Given the description of an element on the screen output the (x, y) to click on. 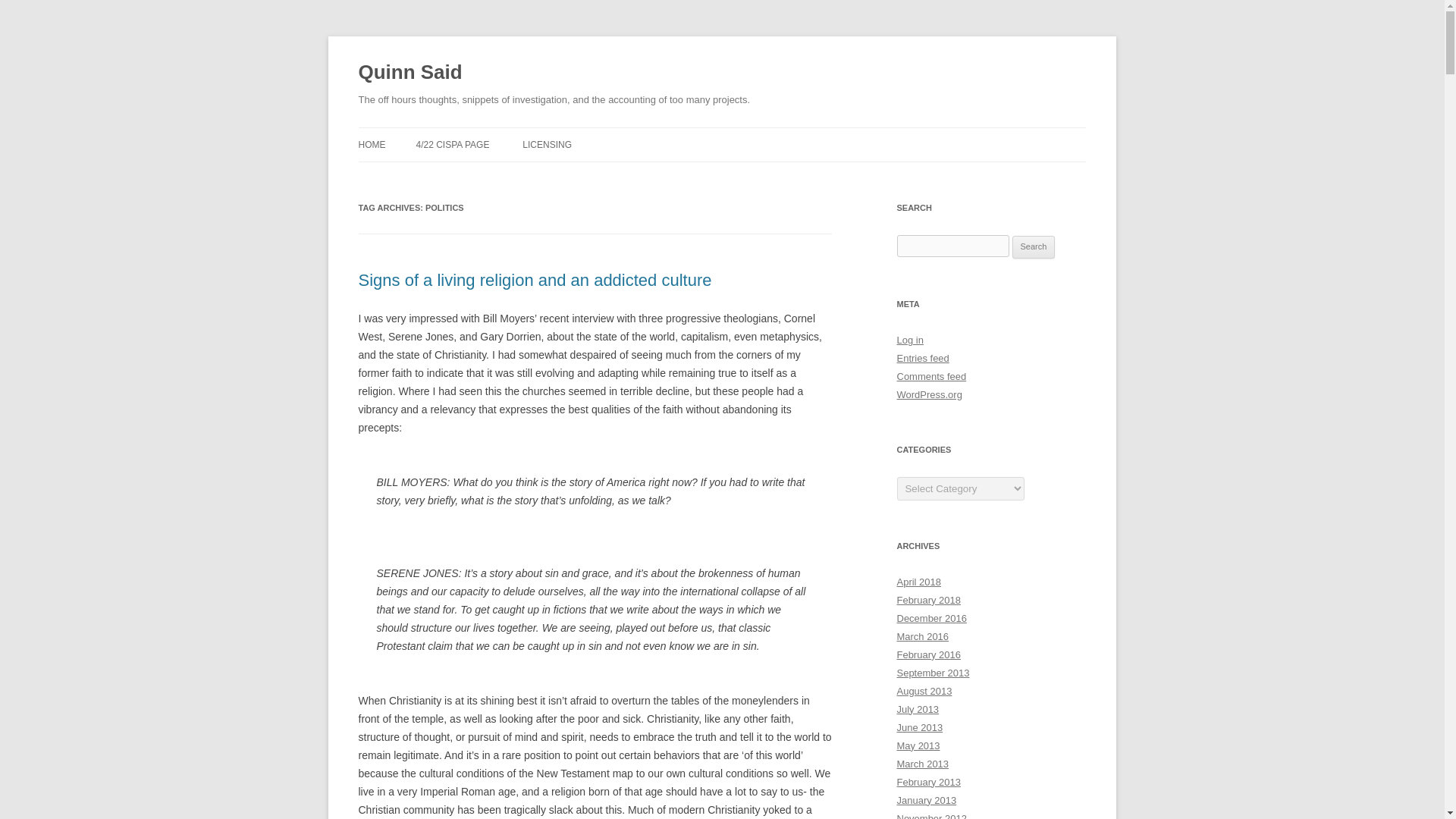
Signs of a living religion and an addicted culture (534, 280)
LICENSING (547, 144)
Search (1033, 246)
Quinn Said (409, 72)
